Given the description of an element on the screen output the (x, y) to click on. 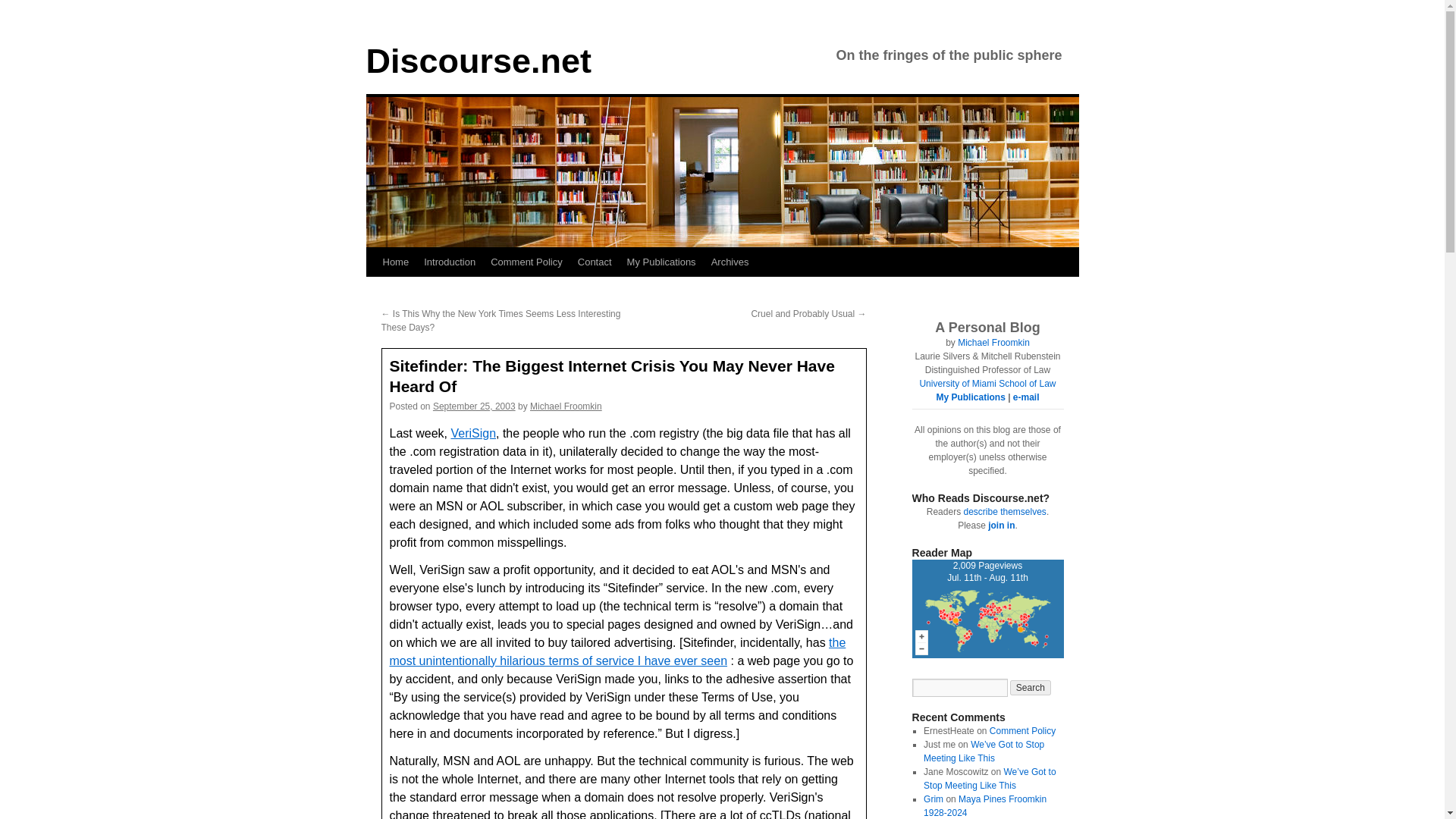
My homepage (993, 342)
Home (395, 262)
September 25, 2003 (473, 406)
Introduction (449, 262)
Discourse.net (478, 60)
Where I work (986, 383)
Most are available online (970, 397)
My Publications (661, 262)
Comment Policy (526, 262)
